Given the description of an element on the screen output the (x, y) to click on. 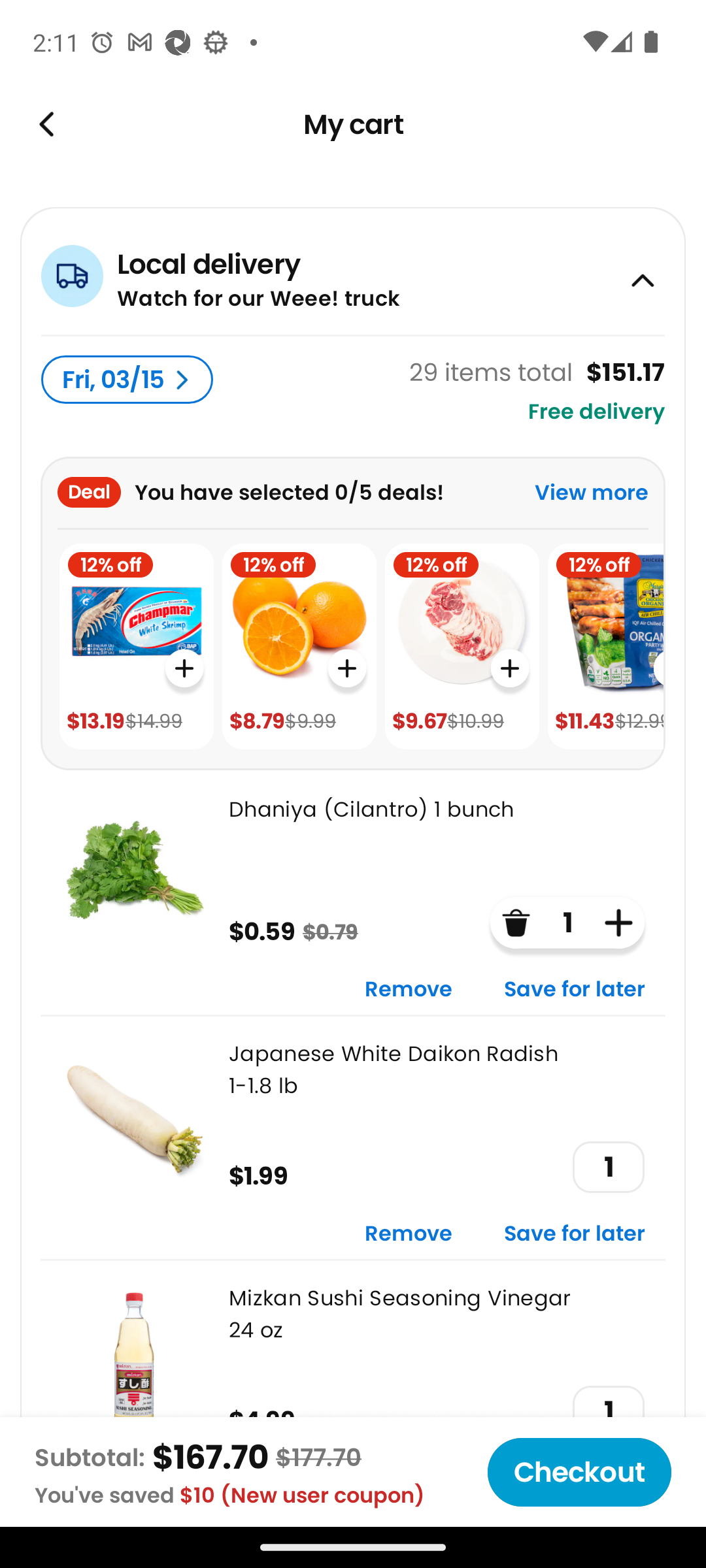
Local delivery Watch for our Weee! truck (352, 269)
Fri, 03/15 (126, 379)
12% off $13.19 $14.99 (136, 646)
12% off $8.79 $9.99 (299, 646)
12% off $9.67 $10.99 (461, 646)
12% off $11.43 $12.99 (605, 646)
Remove (408, 989)
Save for later (574, 989)
1 (608, 1167)
Remove (408, 1234)
Save for later (574, 1234)
Checkout (579, 1471)
